Given the description of an element on the screen output the (x, y) to click on. 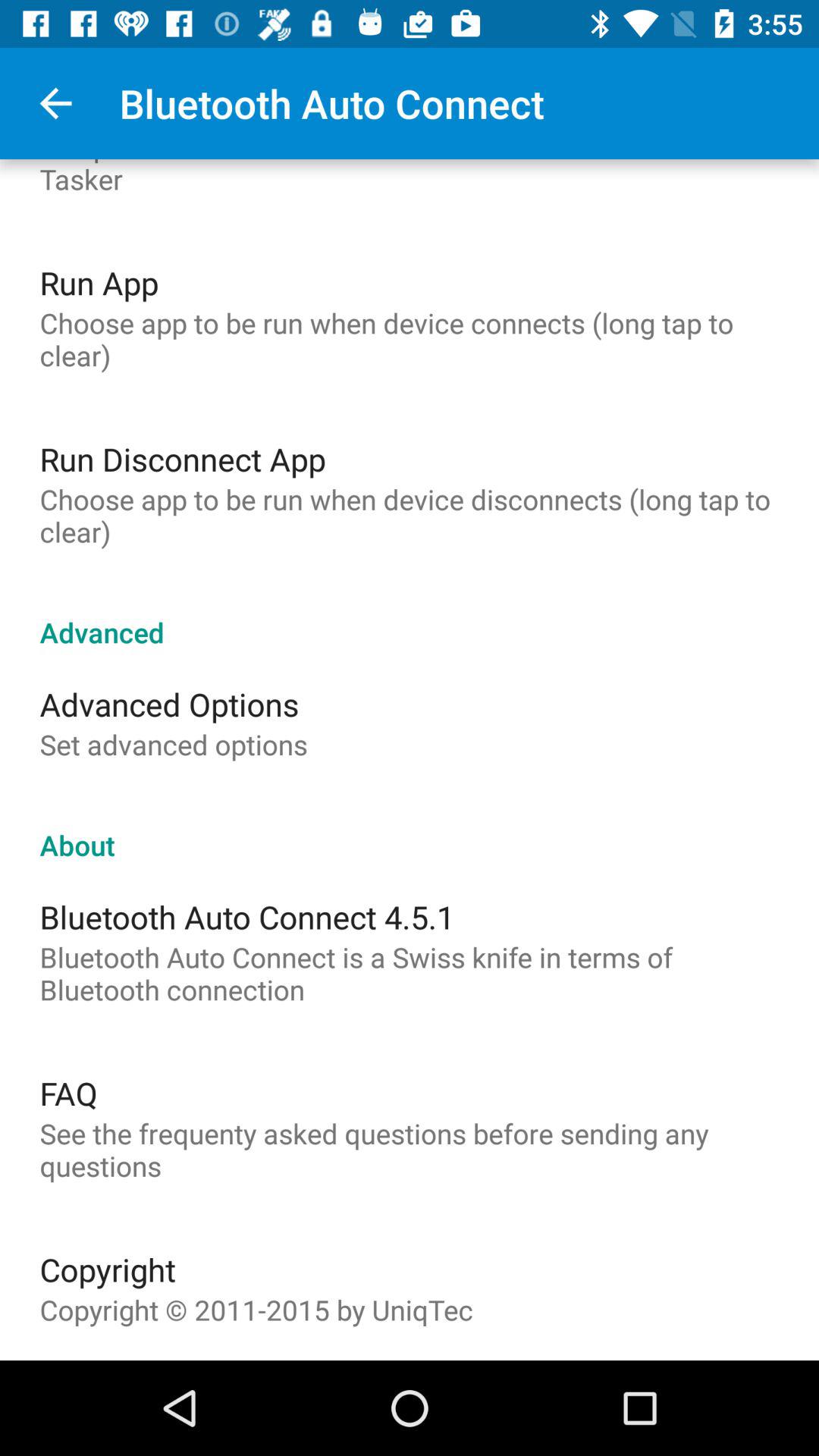
press the about icon (409, 828)
